Given the description of an element on the screen output the (x, y) to click on. 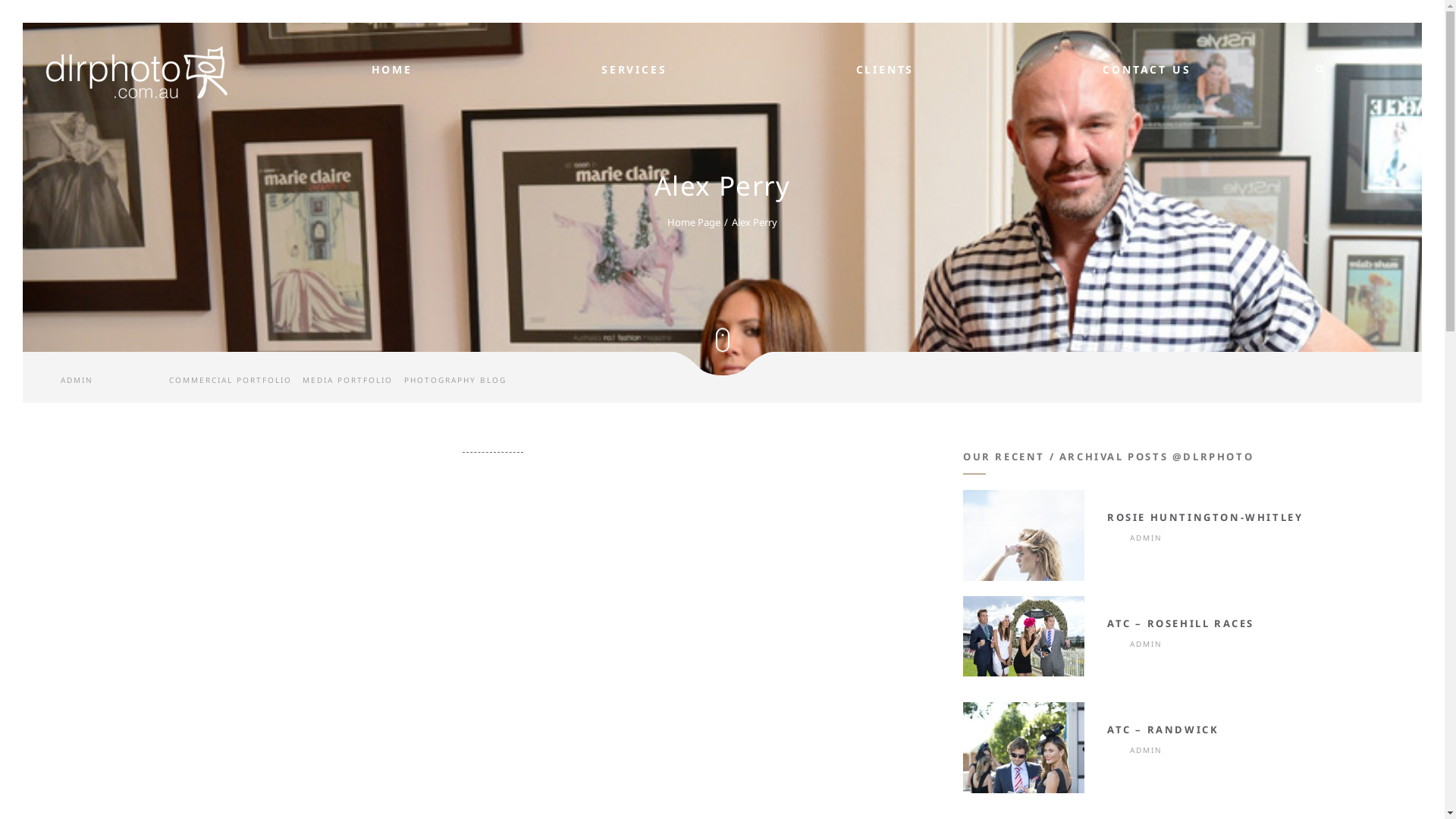
SERVICES Element type: text (633, 70)
PHOTOGRAPHY BLOG Element type: text (455, 379)
ADMIN Element type: text (76, 379)
CLIENTS Element type: text (885, 70)
CONTACT US Element type: text (1146, 70)
Home Page Element type: text (693, 221)
ROSIE HUNTINGTON-WHITLEY Element type: text (1204, 517)
COMMERCIAL PORTFOLIO Element type: text (230, 379)
MEDIA PORTFOLIO Element type: text (347, 379)
HOME Element type: text (391, 70)
